Given the description of an element on the screen output the (x, y) to click on. 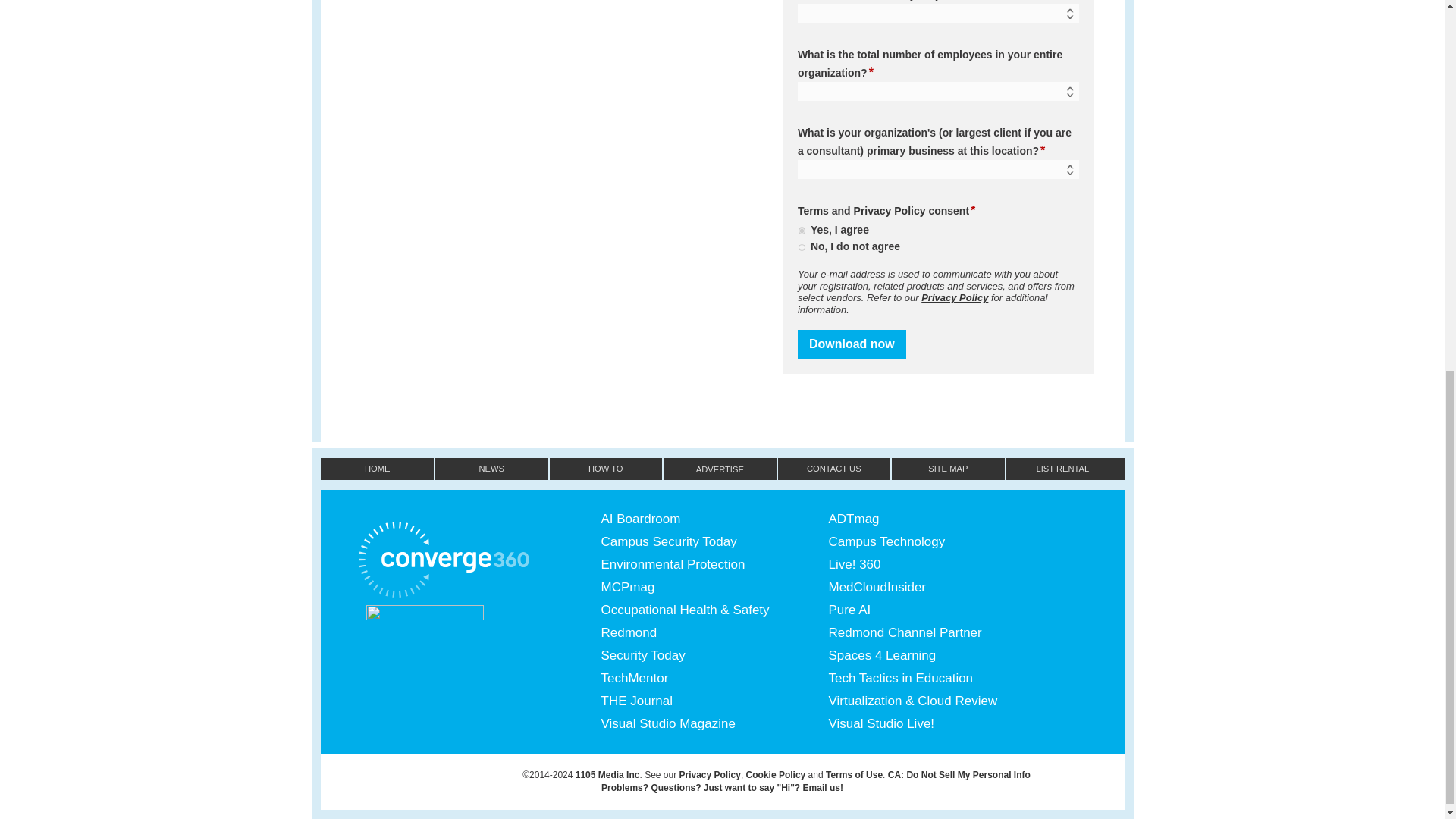
Live! 360 (941, 564)
Security Today (713, 655)
ADVERTISE (719, 468)
Redmond (713, 632)
Spaces 4 Learning (941, 655)
MedCloudInsider (941, 587)
Redmond Channel Partner (941, 632)
Download now (851, 344)
HOME (376, 468)
CONTACT US (834, 468)
Privacy Policy (889, 210)
ADTmag (941, 518)
Environmental Protection (713, 564)
NEWS (490, 468)
Pure AI (941, 609)
